Given the description of an element on the screen output the (x, y) to click on. 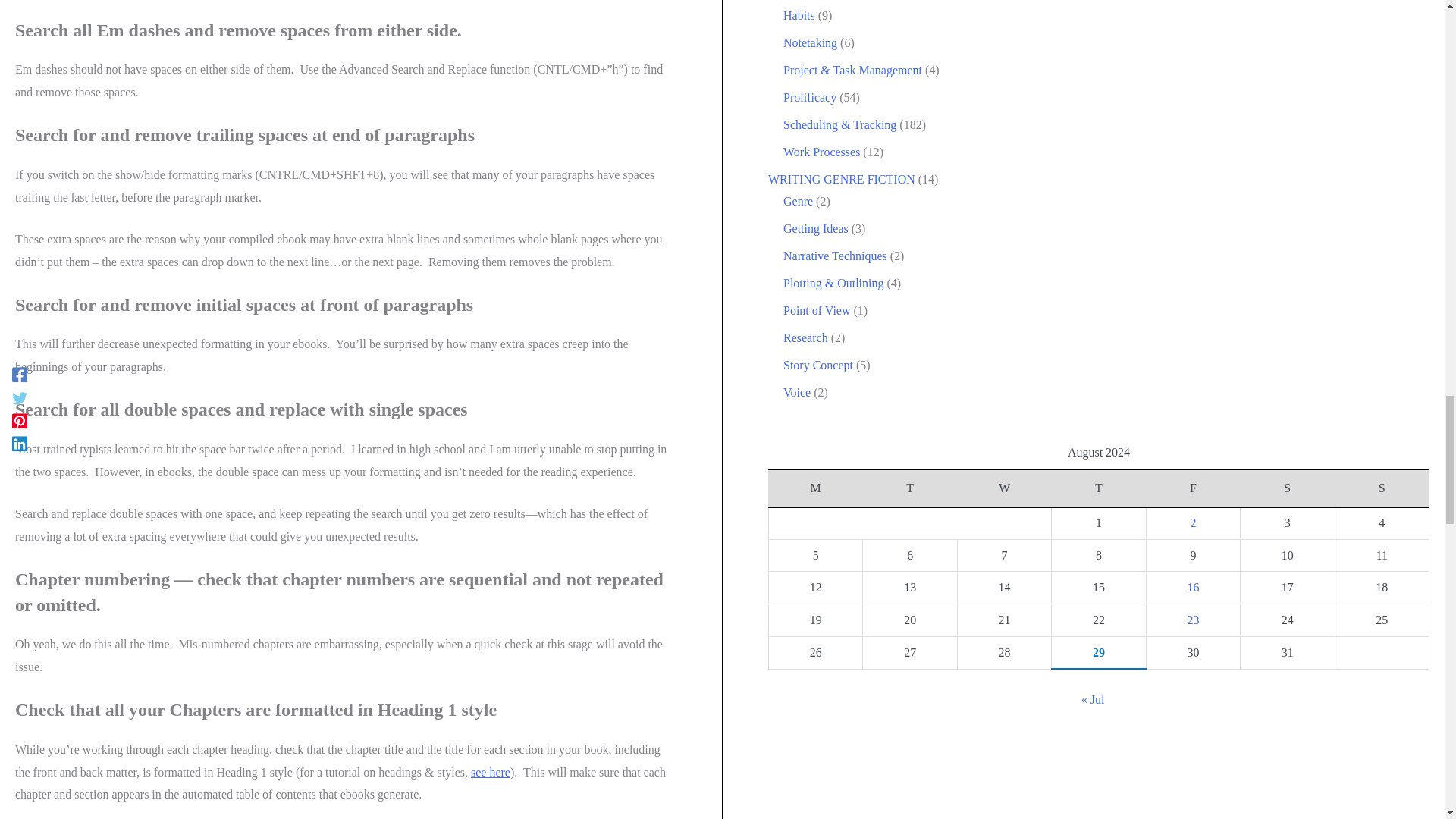
Friday (1192, 487)
Tuesday (909, 487)
Saturday (1287, 487)
Wednesday (1003, 487)
Monday (815, 487)
Thursday (1098, 487)
